Given the description of an element on the screen output the (x, y) to click on. 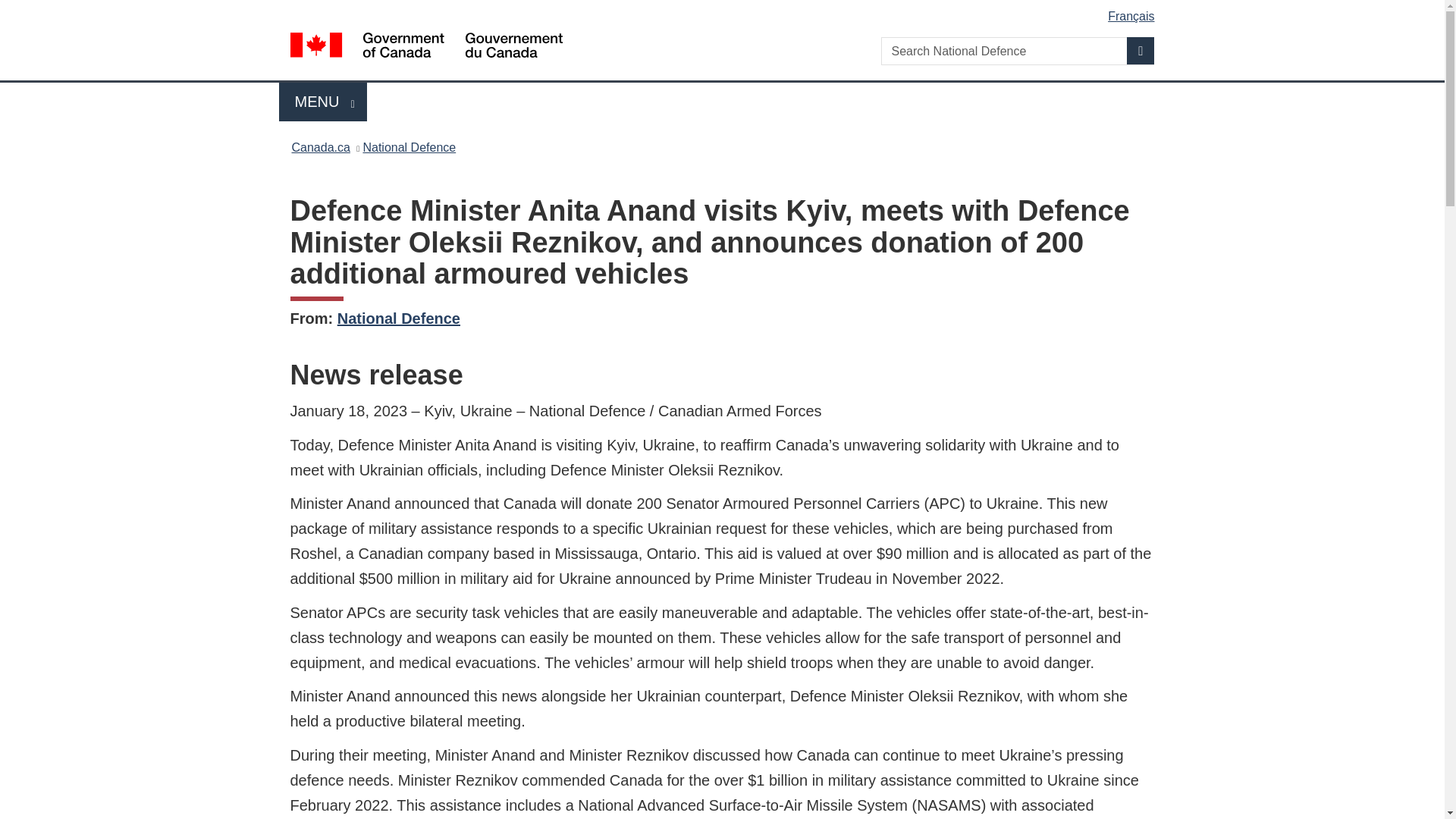
National Defence (408, 147)
Search (1140, 50)
National Defence (398, 318)
Canada.ca (322, 101)
Skip to main content (320, 147)
